Given the description of an element on the screen output the (x, y) to click on. 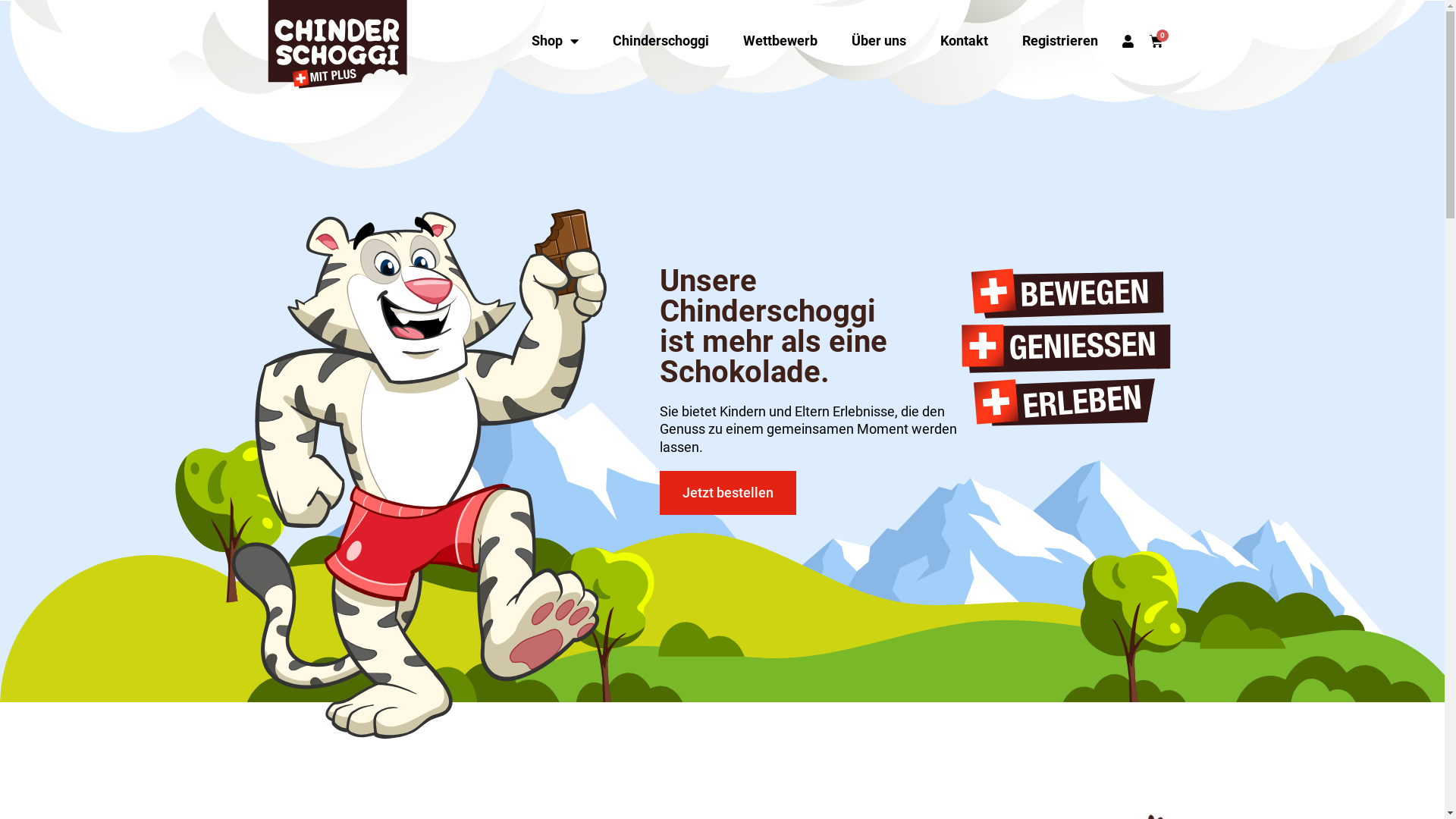
Shop Element type: text (554, 40)
Jetzt bestellen Element type: text (727, 492)
Registrieren Element type: text (1060, 40)
Kontakt Element type: text (964, 40)
Wettbewerb Element type: text (780, 40)
Chinderschoggi Element type: text (660, 40)
0
Warenkorb Element type: text (1156, 40)
